Given the description of an element on the screen output the (x, y) to click on. 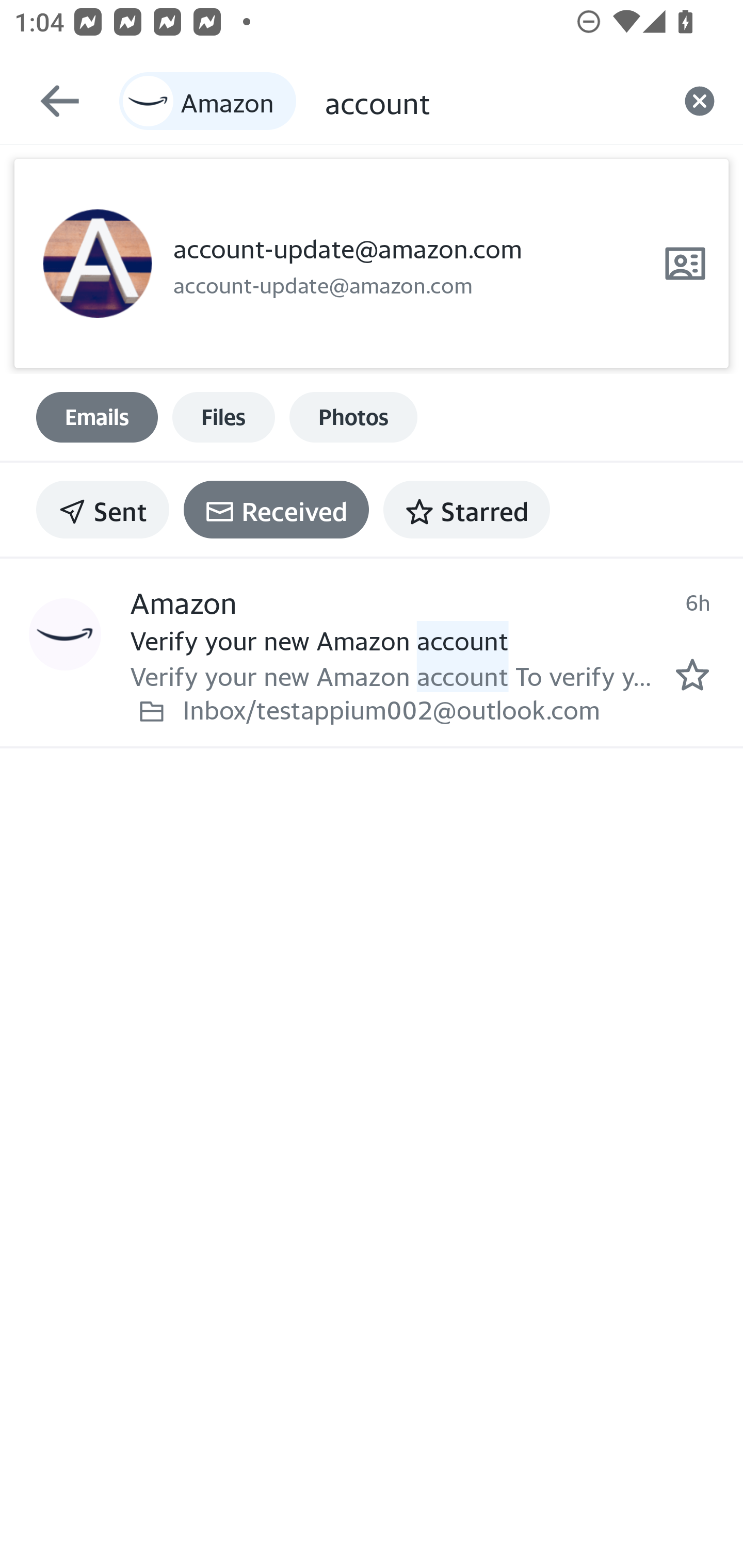
Back (50, 101)
account (490, 101)
Clear (699, 101)
Profile (97, 264)
Emails (96, 417)
Files (223, 417)
Photos (353, 417)
Sent (102, 509)
Received (276, 509)
Starred (466, 509)
Profile
Amazon (64, 634)
Mark as starred. (692, 674)
